Given the description of an element on the screen output the (x, y) to click on. 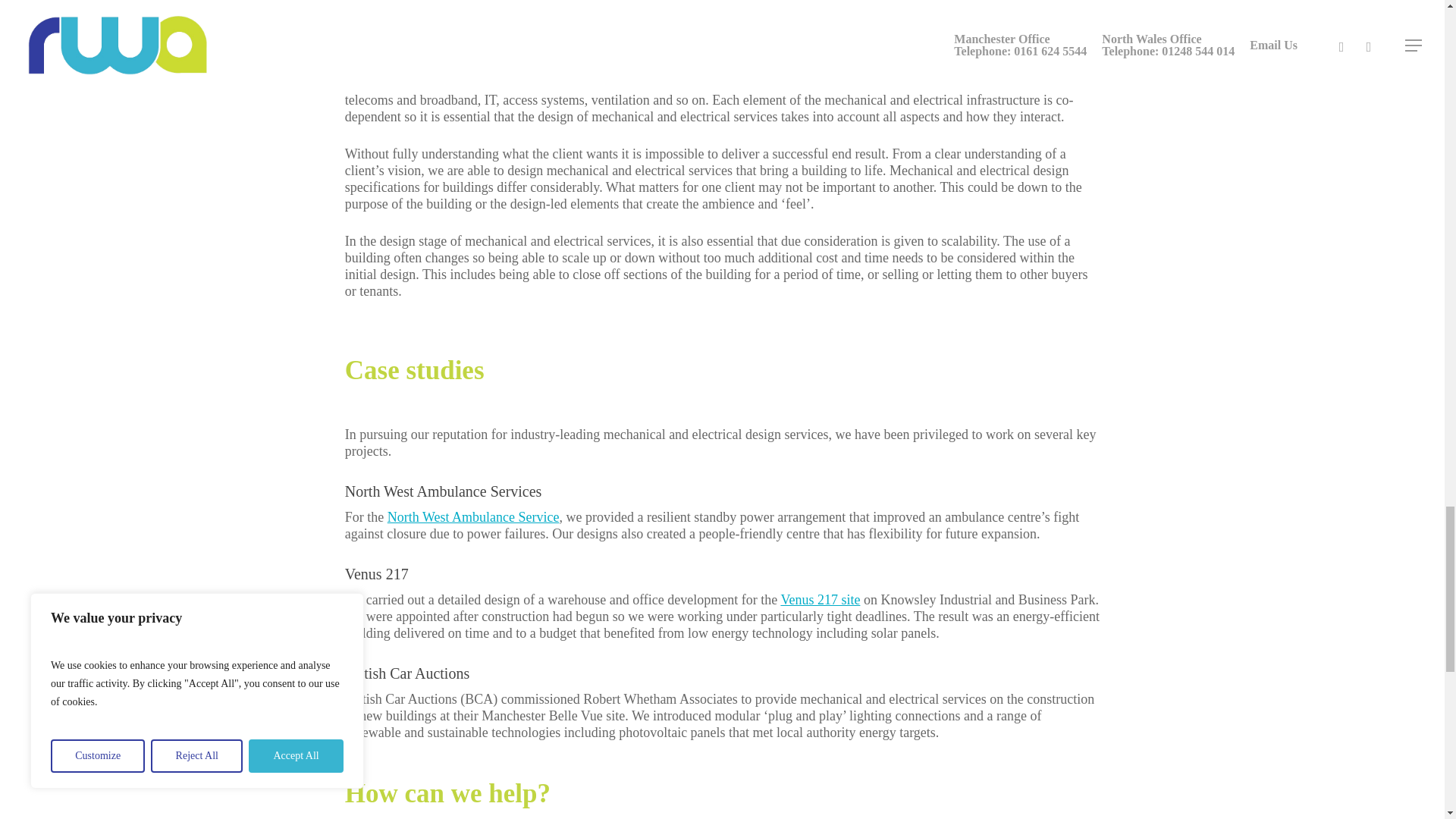
North West Ambulance Service (473, 516)
Venus 217 site (820, 599)
